Given the description of an element on the screen output the (x, y) to click on. 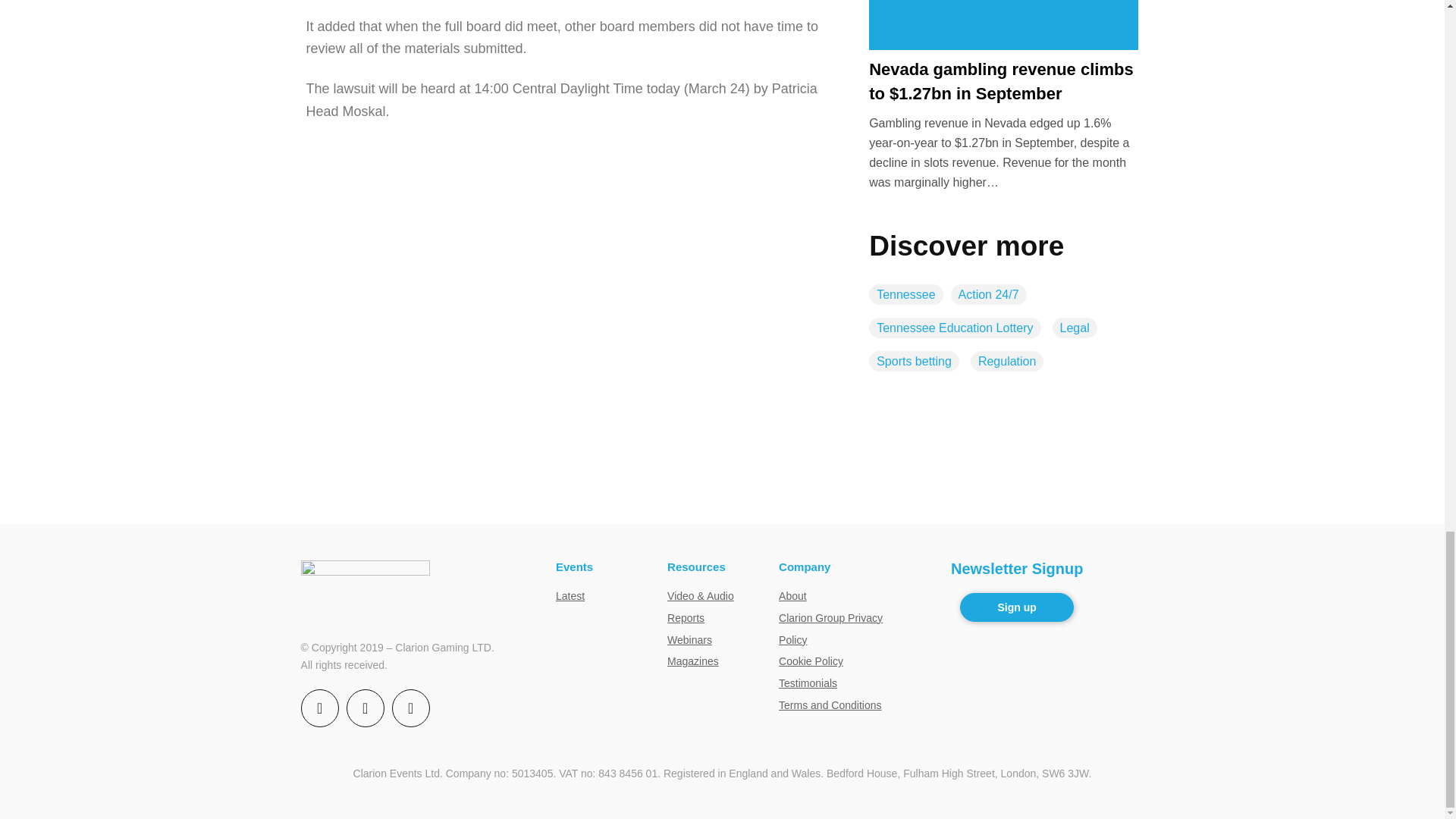
Facebook (320, 708)
LinkedIn (410, 708)
Twitter (365, 708)
